Given the description of an element on the screen output the (x, y) to click on. 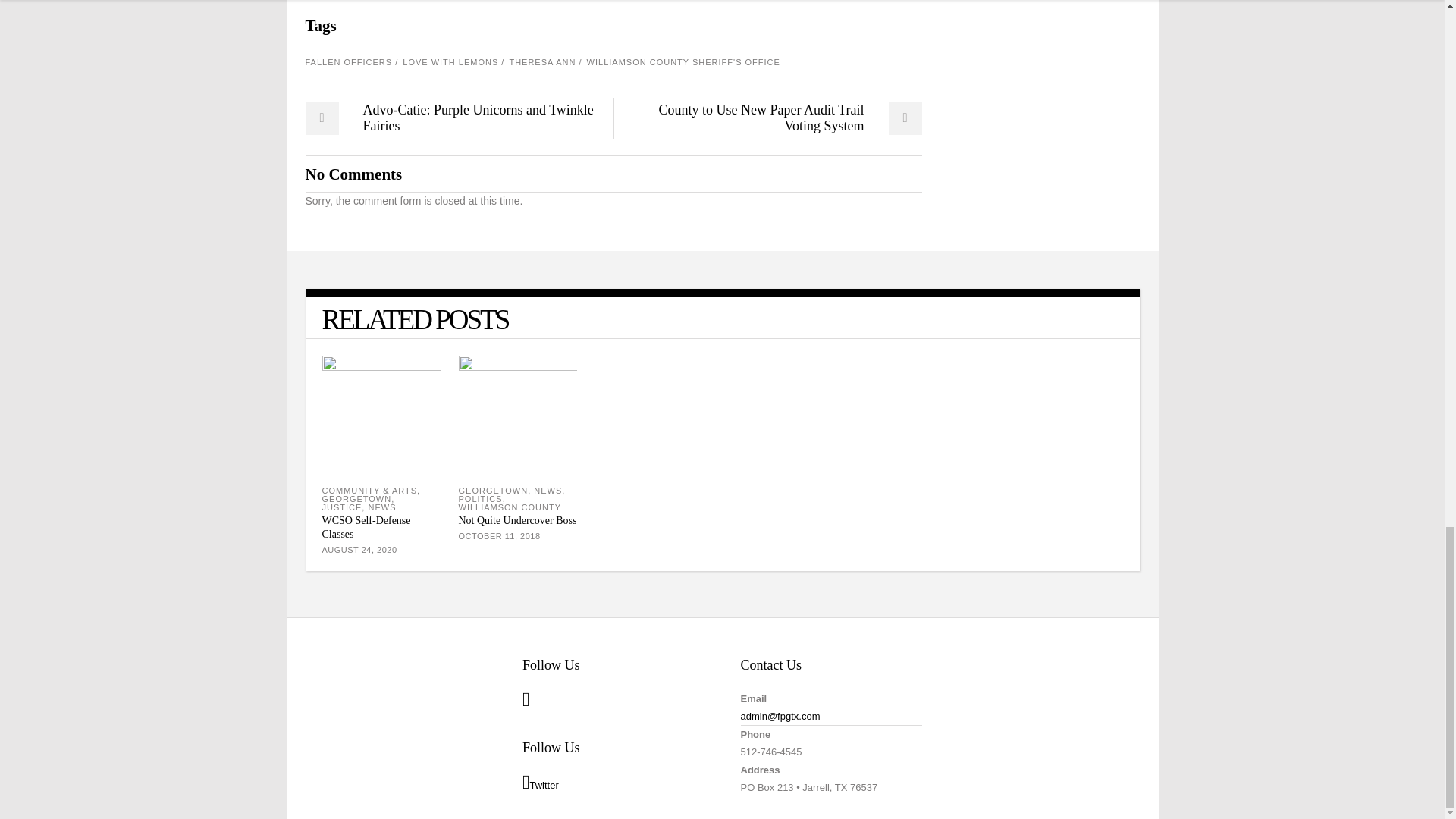
Visit Advocate News TX on Twitter (540, 783)
